Given the description of an element on the screen output the (x, y) to click on. 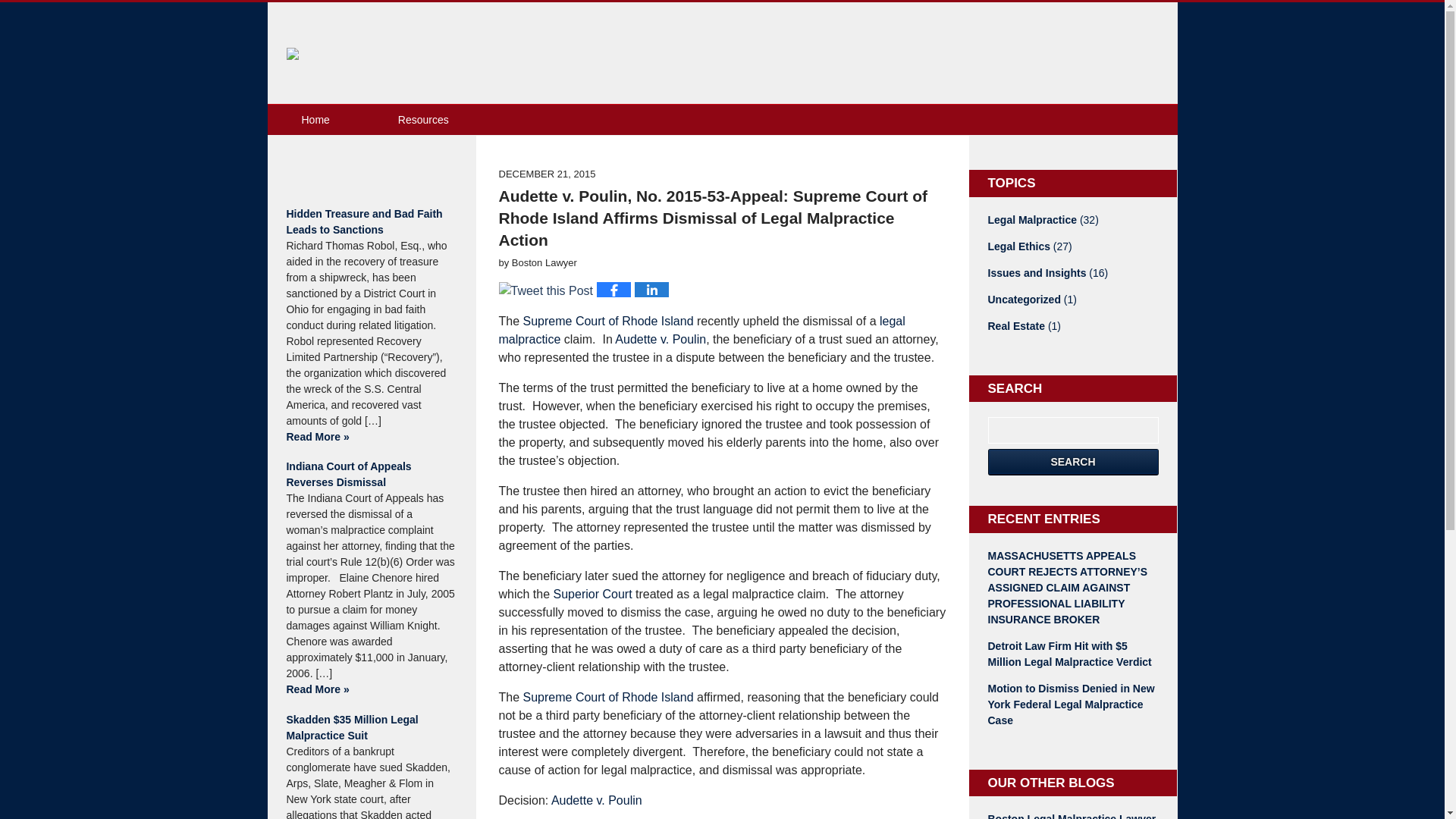
Resources (423, 119)
Audette v. Poulin (660, 338)
Legal Malpractice Lawyer (437, 55)
Audette v. Poulin (596, 799)
Boston Legal Malpractice Lawyer (1072, 815)
SEARCH (1072, 461)
Home (314, 119)
Superior Court (592, 594)
Supreme Court of Rhode Island (608, 320)
Supreme Court of Rhode Island (608, 697)
Indiana Court of Appeals Reverses Dismissal (371, 474)
Hidden Treasure and Bad Faith Leads to Sanctions (371, 222)
legal malpractice (702, 329)
